Given the description of an element on the screen output the (x, y) to click on. 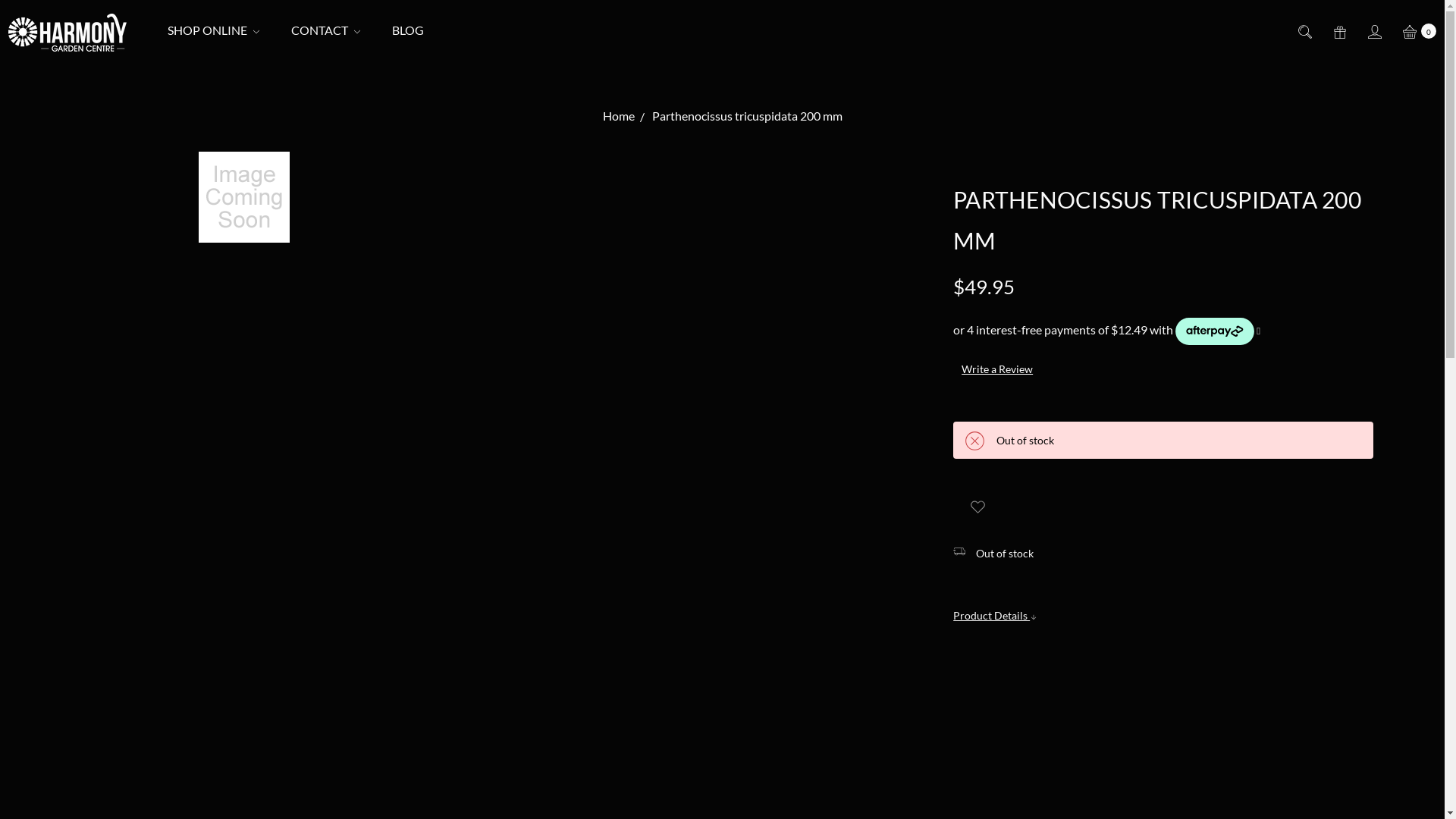
Parthenocissus tricuspidata 200 mm Element type: text (747, 115)
Home Element type: text (617, 115)
BLOG Element type: text (407, 30)
SHOP ONLINE Element type: text (213, 30)
0 Element type: text (1418, 30)
Product Details Element type: text (995, 614)
Harmony Garden Centre Element type: hover (67, 32)
Write a Review Element type: text (996, 368)
CONTACT Element type: text (325, 30)
